Given the description of an element on the screen output the (x, y) to click on. 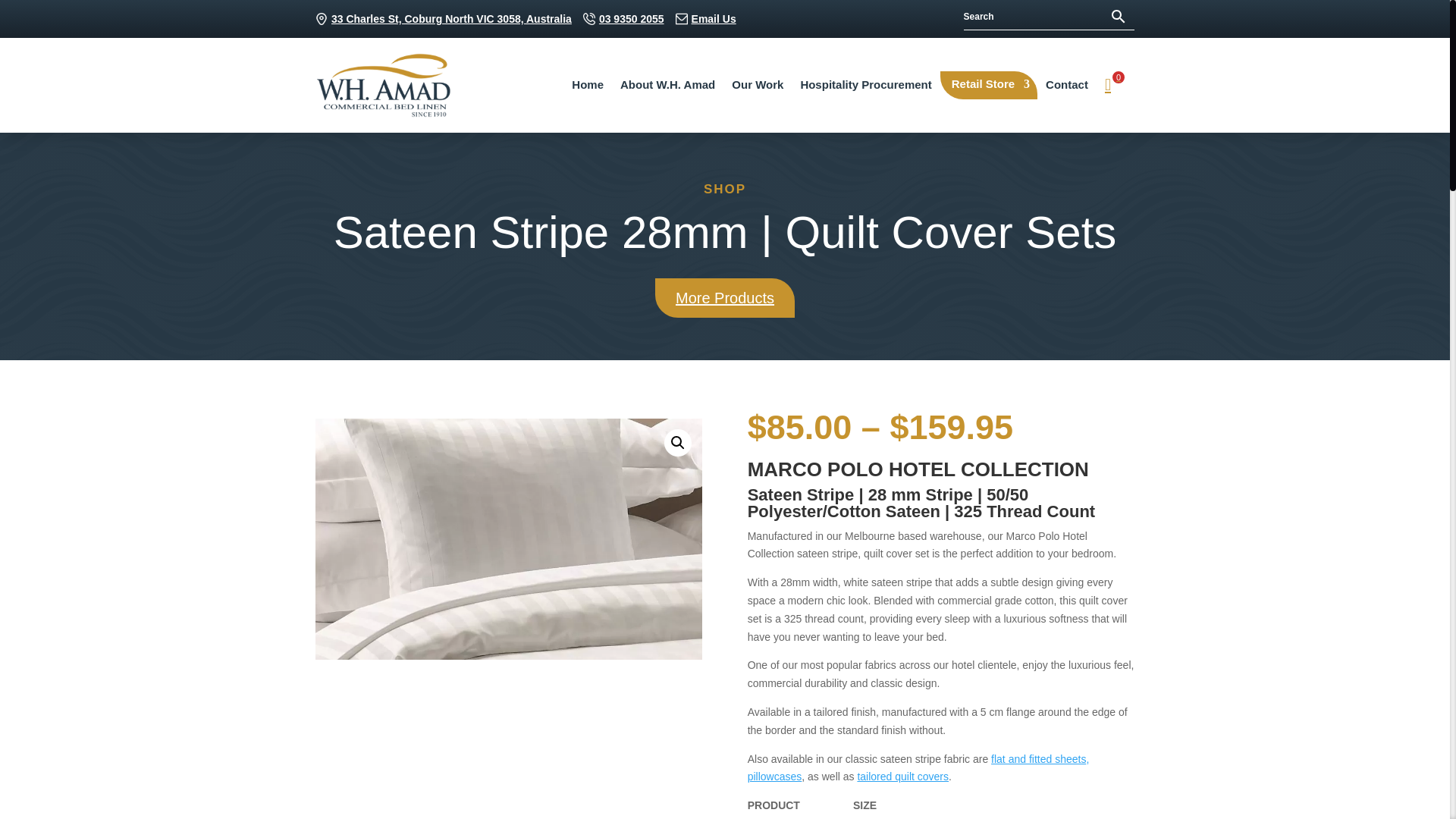
sateen.pillow (508, 539)
